Given the description of an element on the screen output the (x, y) to click on. 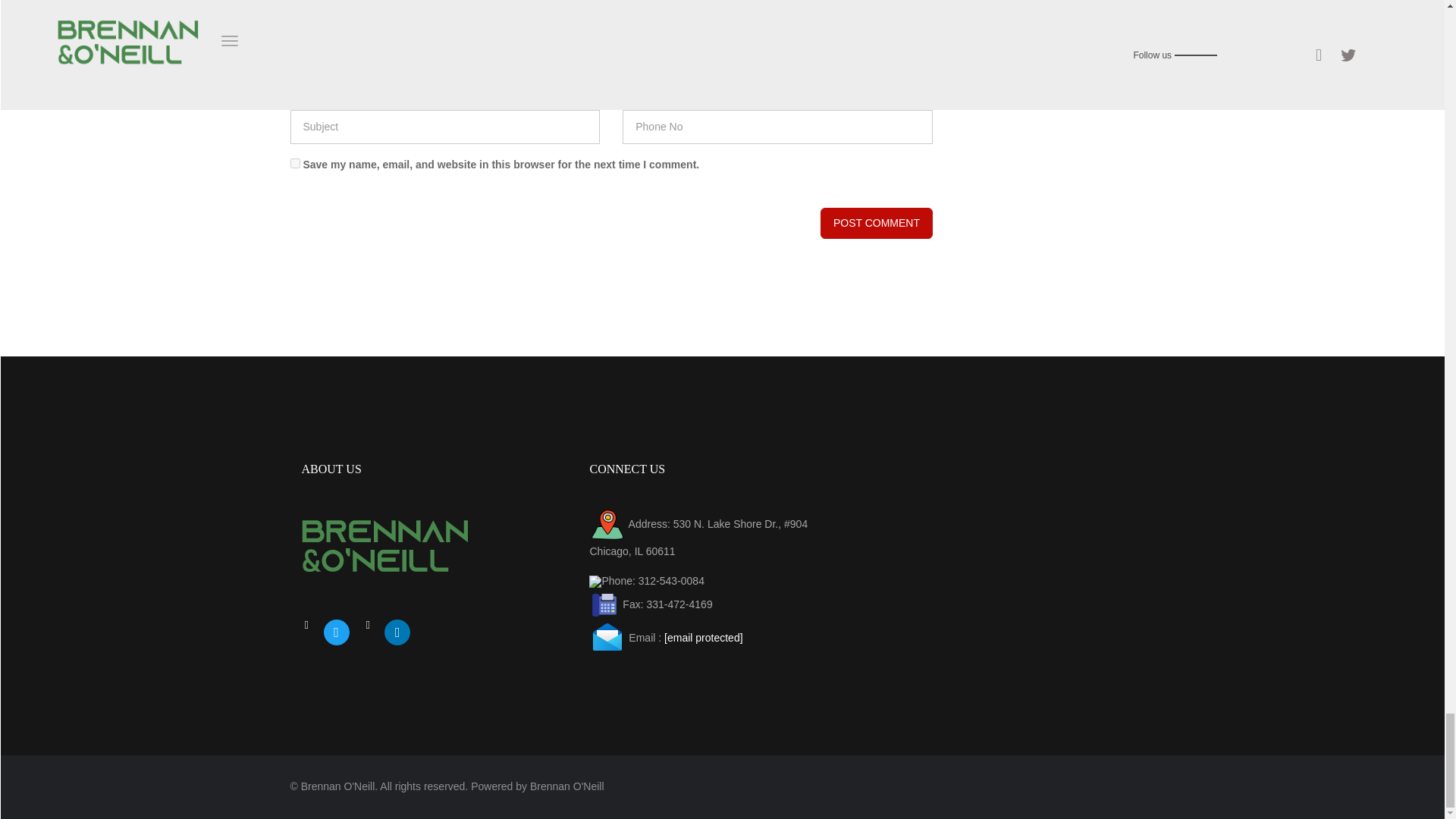
twitter (336, 630)
linkedin (397, 630)
Post Comment (877, 223)
Post Comment (877, 223)
yes (294, 163)
